Given the description of an element on the screen output the (x, y) to click on. 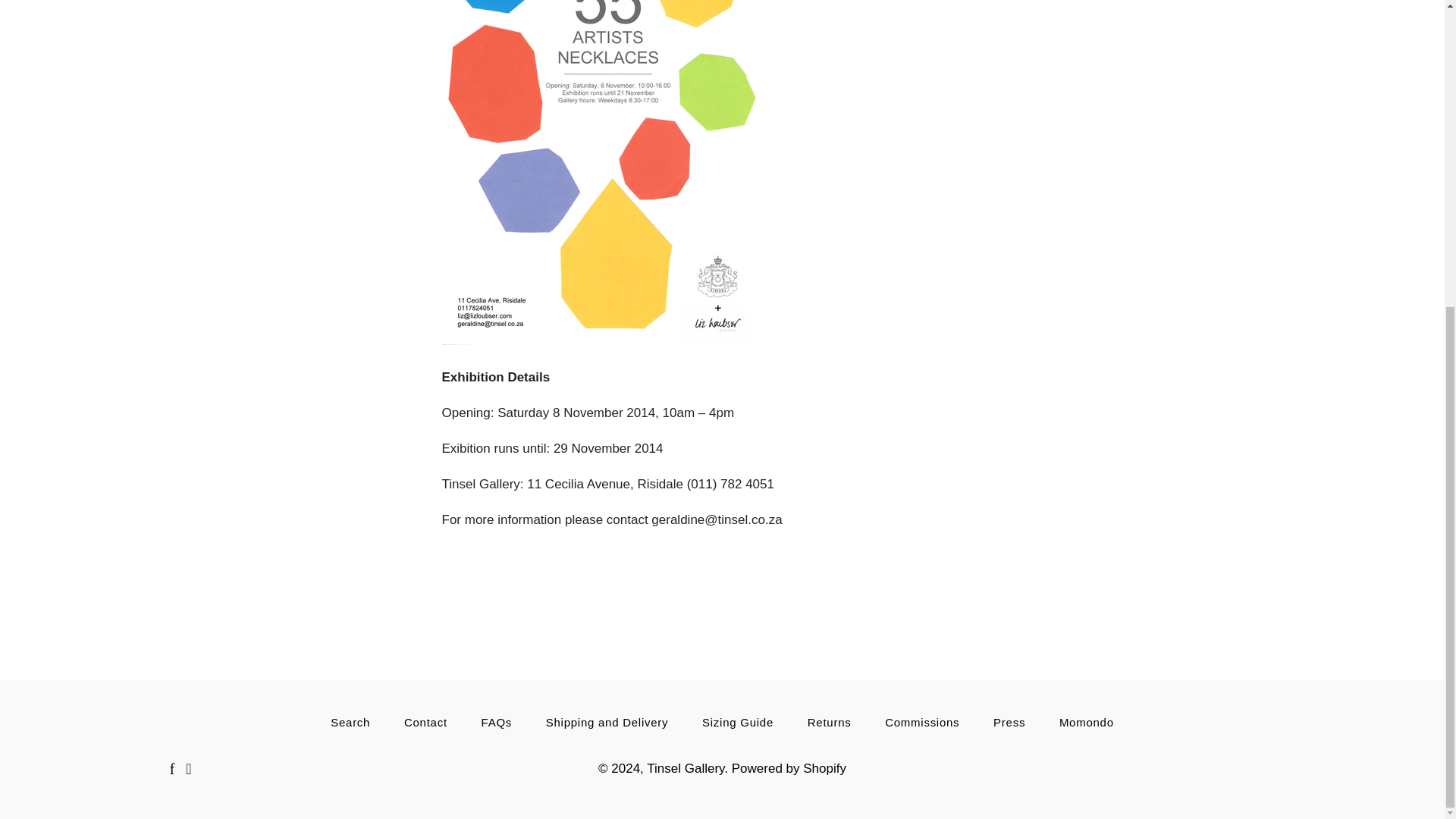
Tinsel Gallery on Facebook (172, 769)
Tinsel Gallery on Instagram (188, 769)
